Given the description of an element on the screen output the (x, y) to click on. 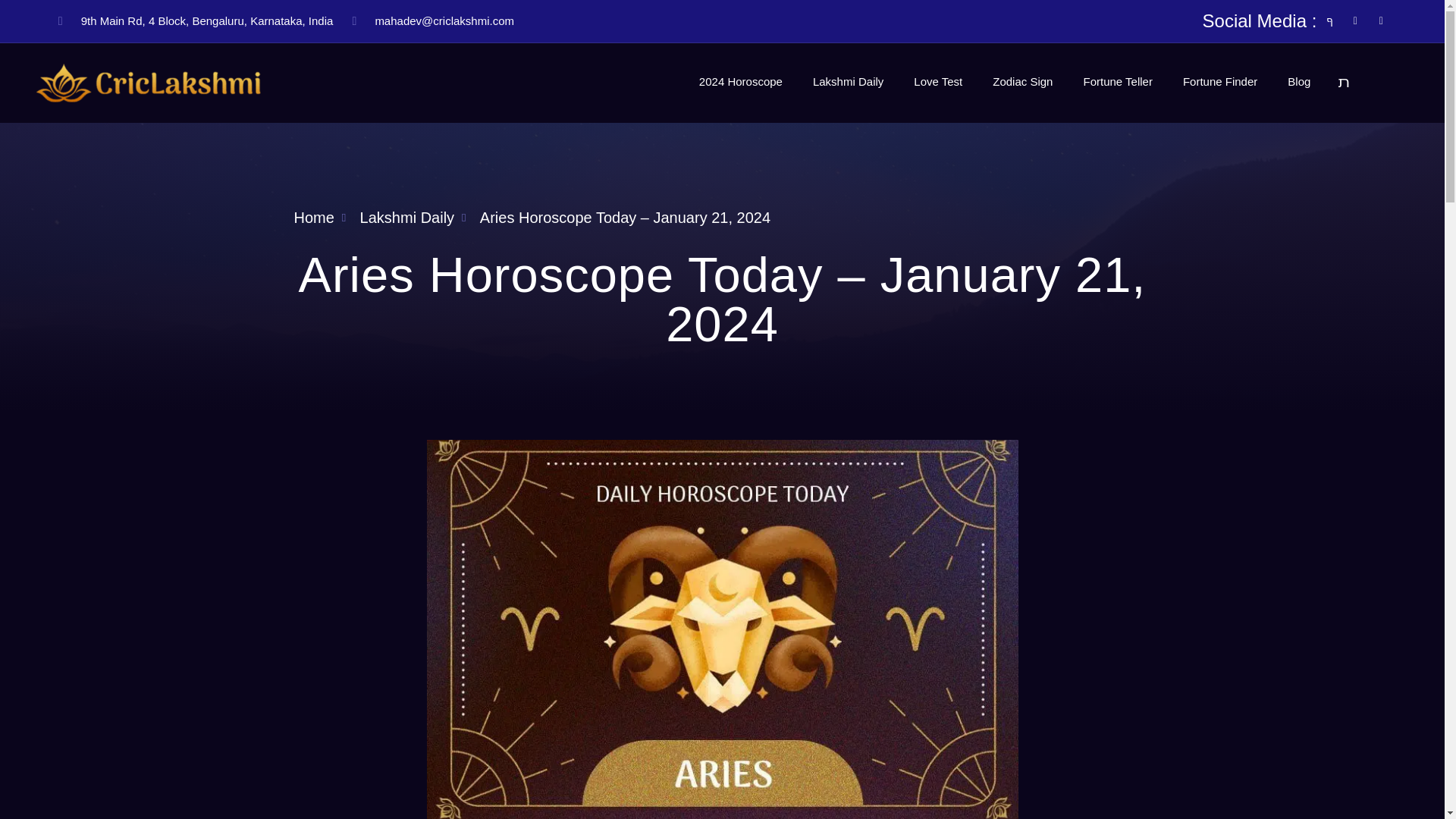
Zodiac Sign (1021, 82)
Love Test (937, 82)
2024 Horoscope (740, 82)
Fortune Teller (1117, 82)
Lakshmi Daily (847, 82)
Fortune Finder (1219, 82)
Home (314, 217)
Lakshmi Daily (398, 217)
